Given the description of an element on the screen output the (x, y) to click on. 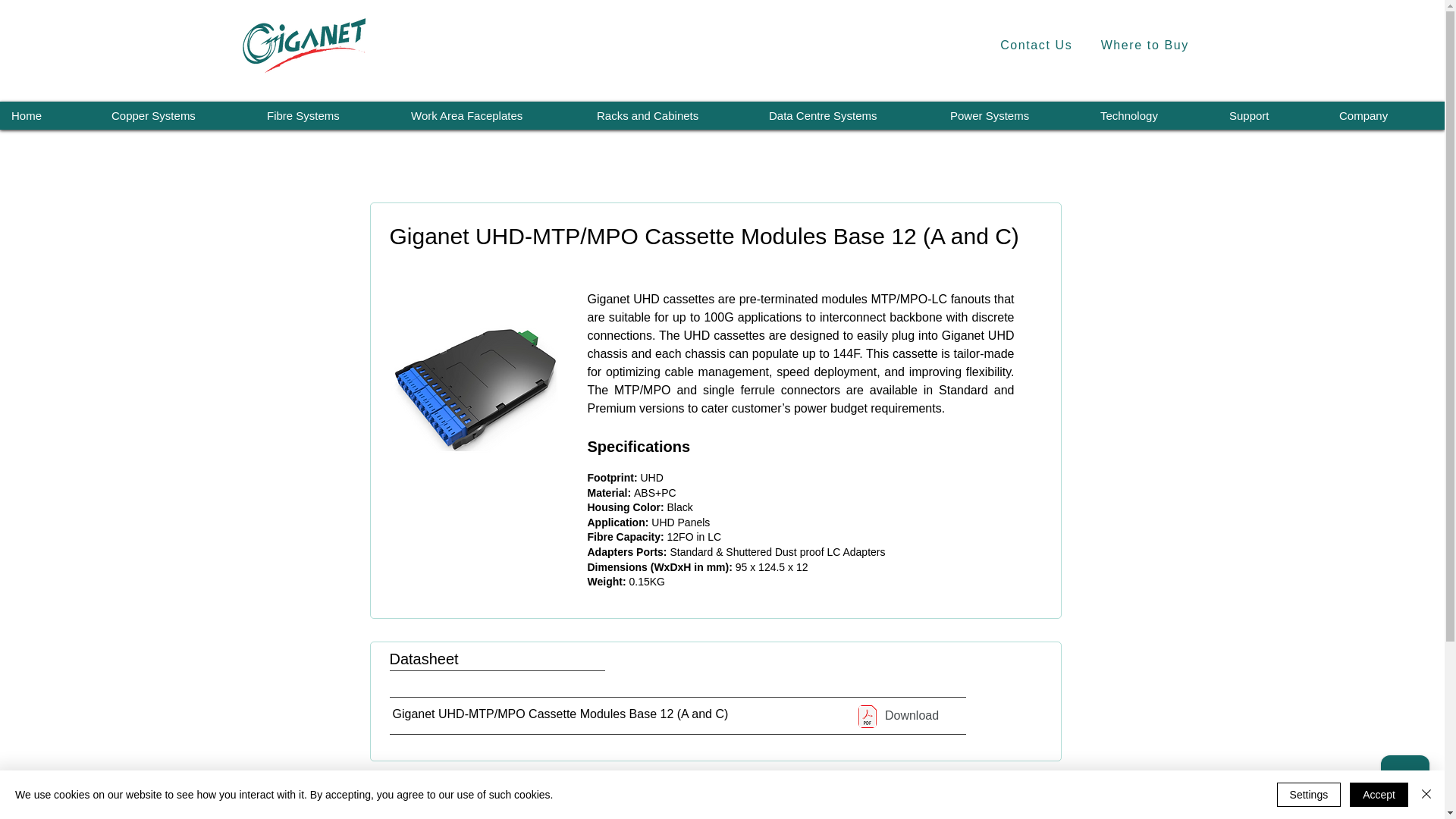
Data Centre Systems (847, 115)
Where to Buy (1144, 45)
Home (49, 115)
Copper Systems (176, 115)
Contact Us (1035, 45)
Racks and Cabinets (671, 115)
Fibre Systems (326, 115)
Work Area Faceplates (491, 115)
